Given the description of an element on the screen output the (x, y) to click on. 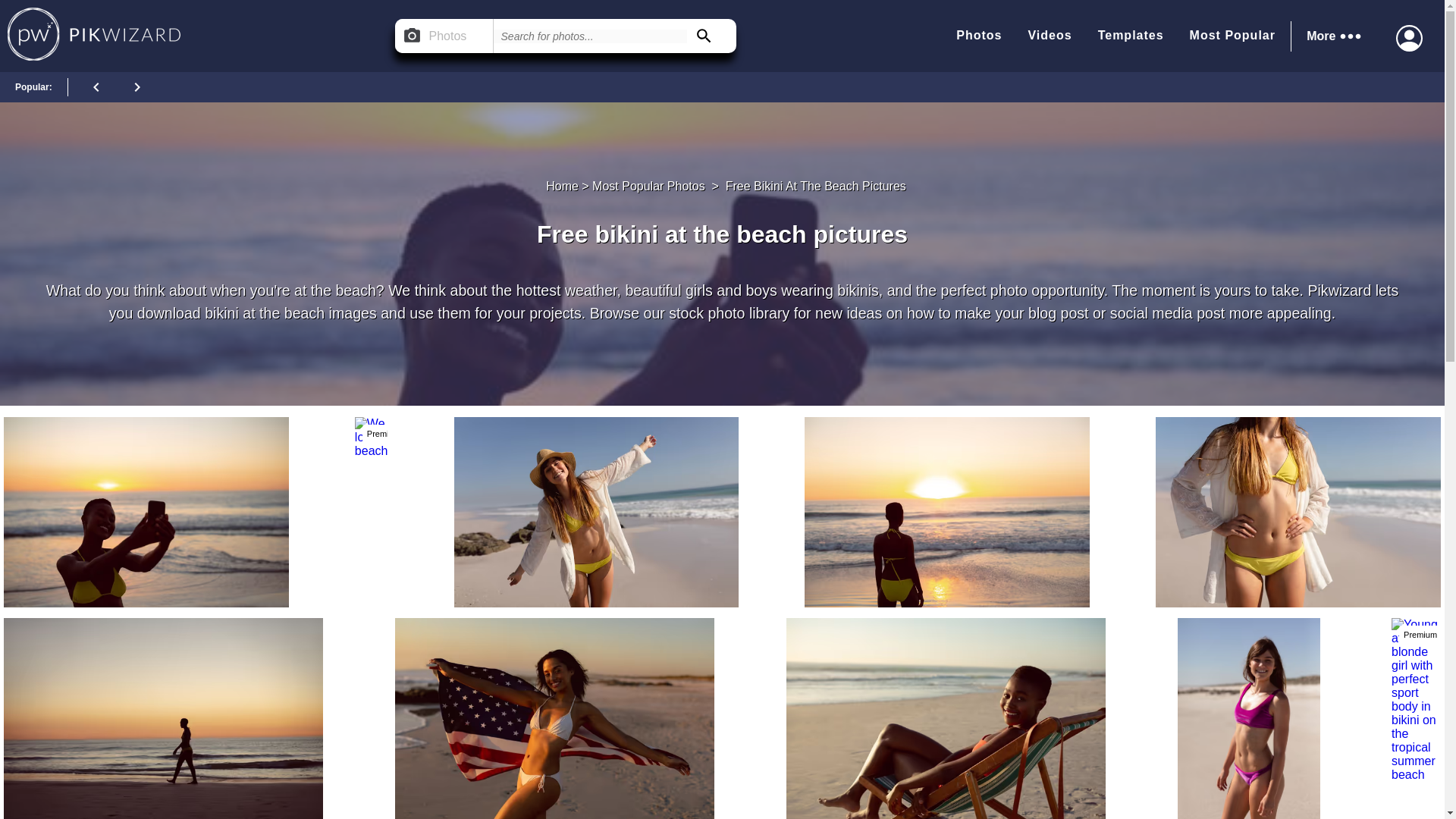
Templates (1130, 35)
Home (562, 186)
Photos (443, 35)
Photos (978, 35)
Most Popular Photos (648, 186)
Videos (1049, 35)
